Given the description of an element on the screen output the (x, y) to click on. 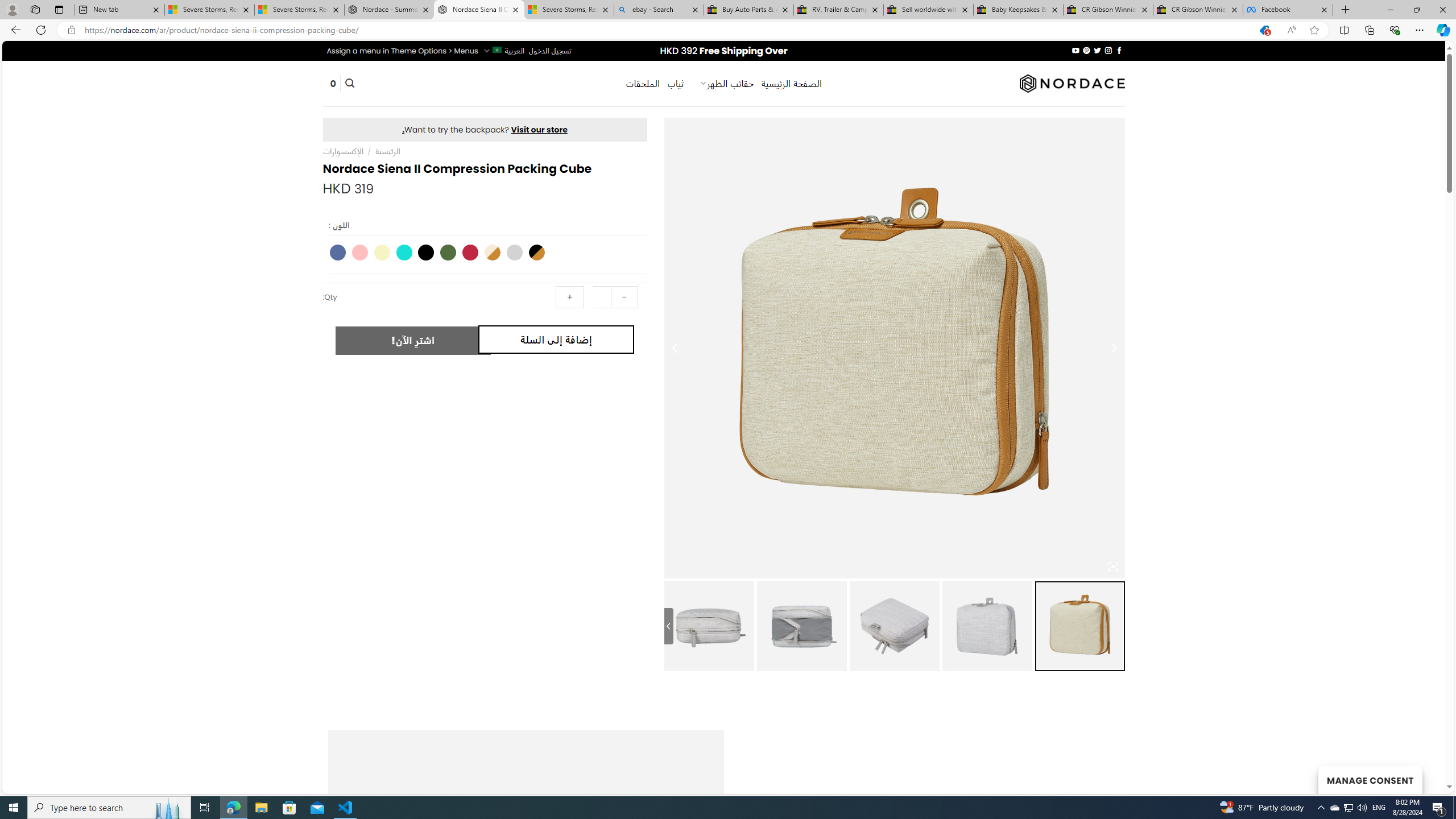
App bar (728, 29)
Follow on Pinterest (1086, 50)
Personal Profile (12, 9)
Collections (1369, 29)
Tab actions menu (58, 9)
Back (13, 29)
Follow on Instagram (1108, 50)
